Given the description of an element on the screen output the (x, y) to click on. 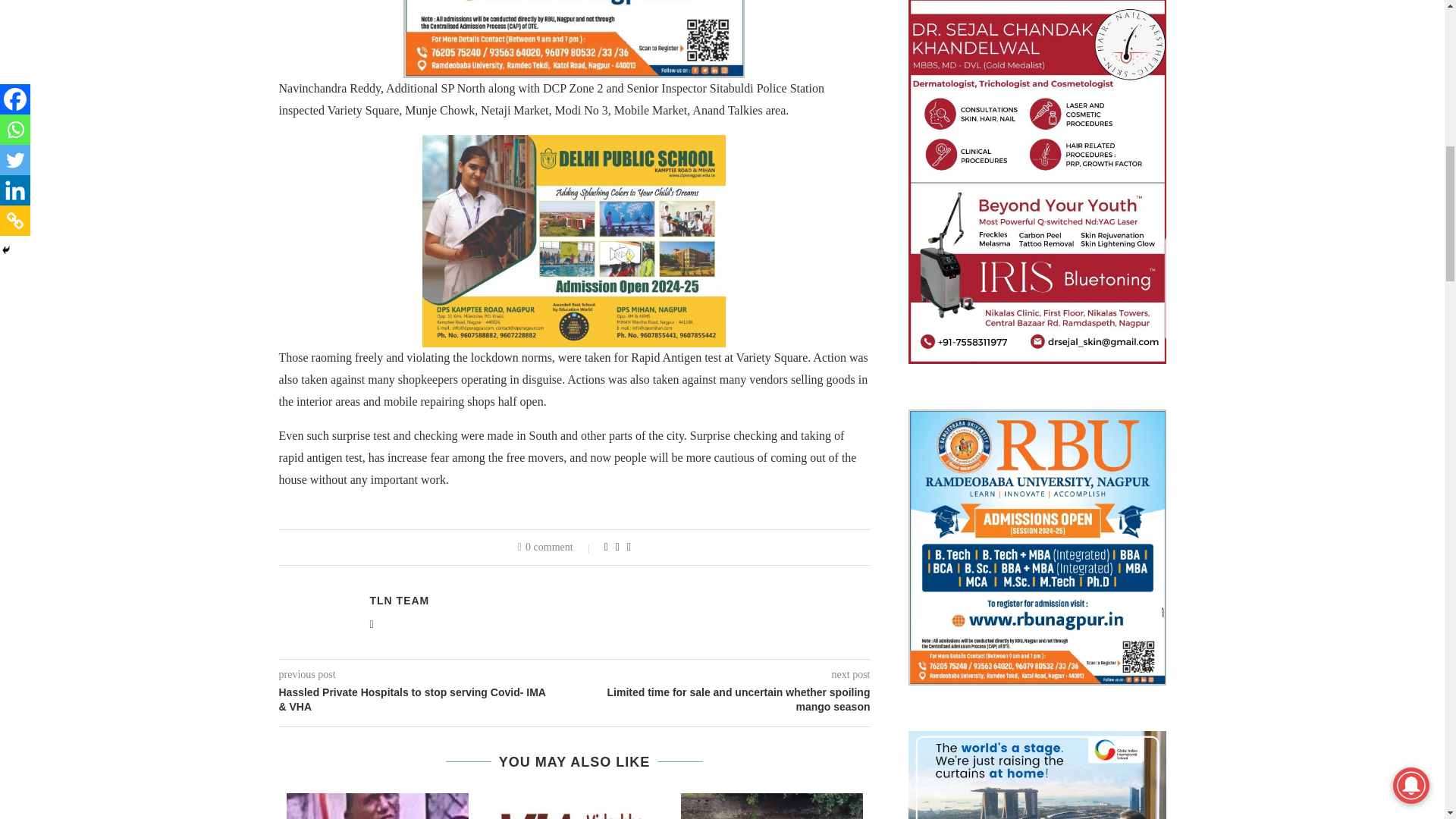
Posts by TLN Team (399, 600)
